Given the description of an element on the screen output the (x, y) to click on. 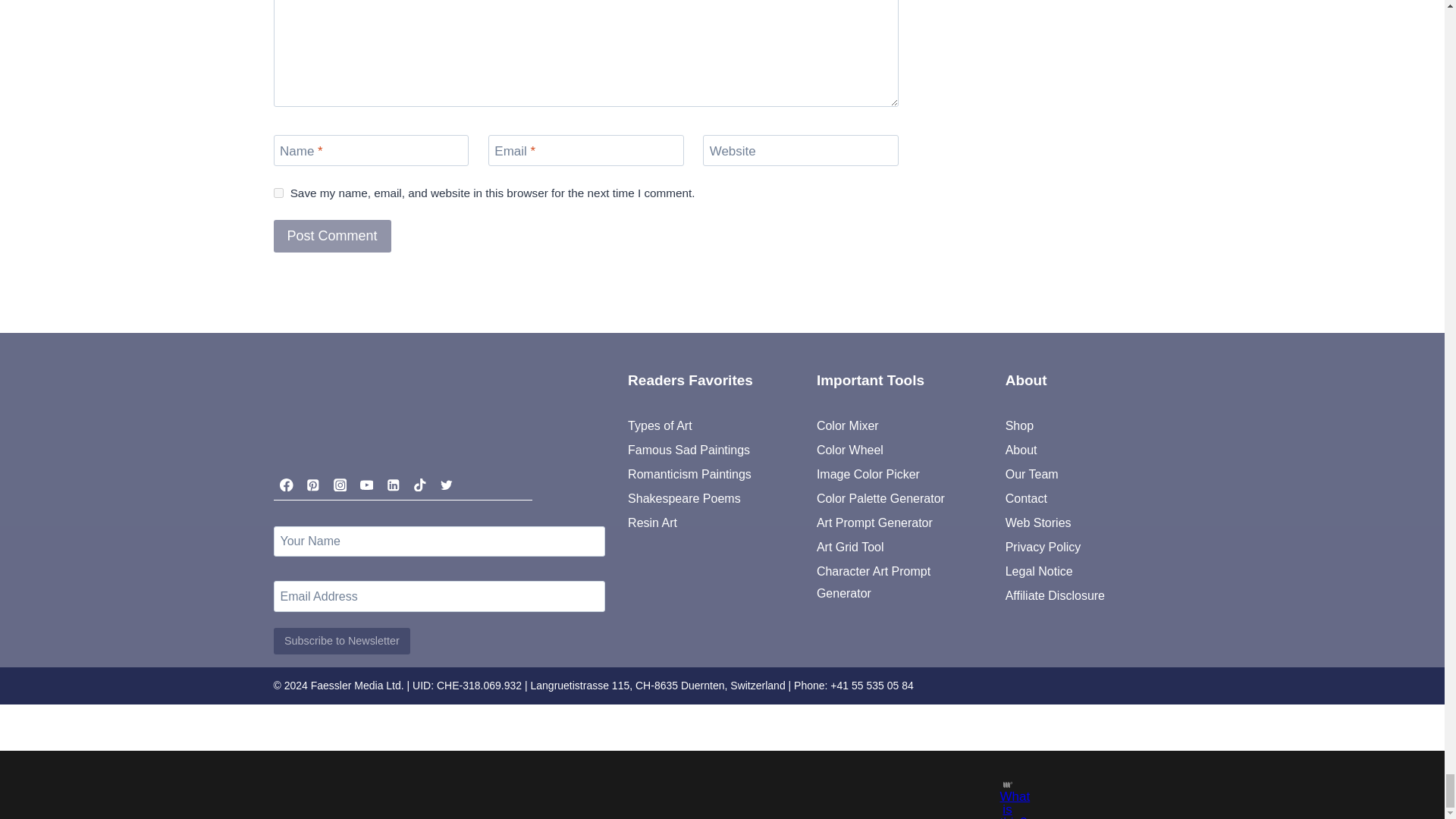
Post Comment (331, 236)
yes (277, 193)
